Given the description of an element on the screen output the (x, y) to click on. 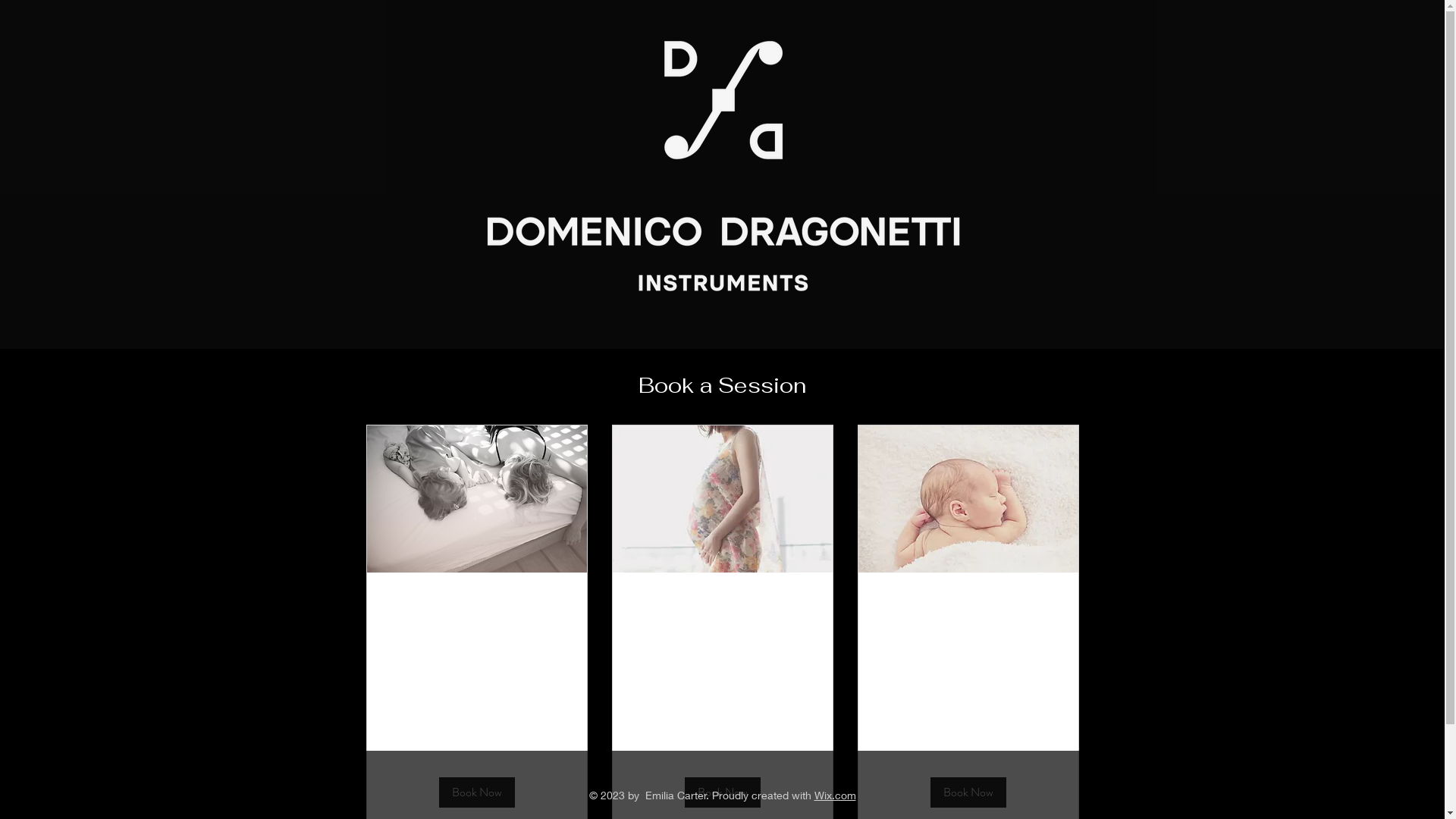
Pregnancy Photography Element type: text (721, 607)
Full size Violin Set Rental Element type: text (475, 618)
Book Now Element type: text (476, 792)
Baby Photography Element type: text (967, 607)
Book Now Element type: text (721, 792)
Wix.com Element type: text (835, 794)
Book Now Element type: text (967, 792)
